Given the description of an element on the screen output the (x, y) to click on. 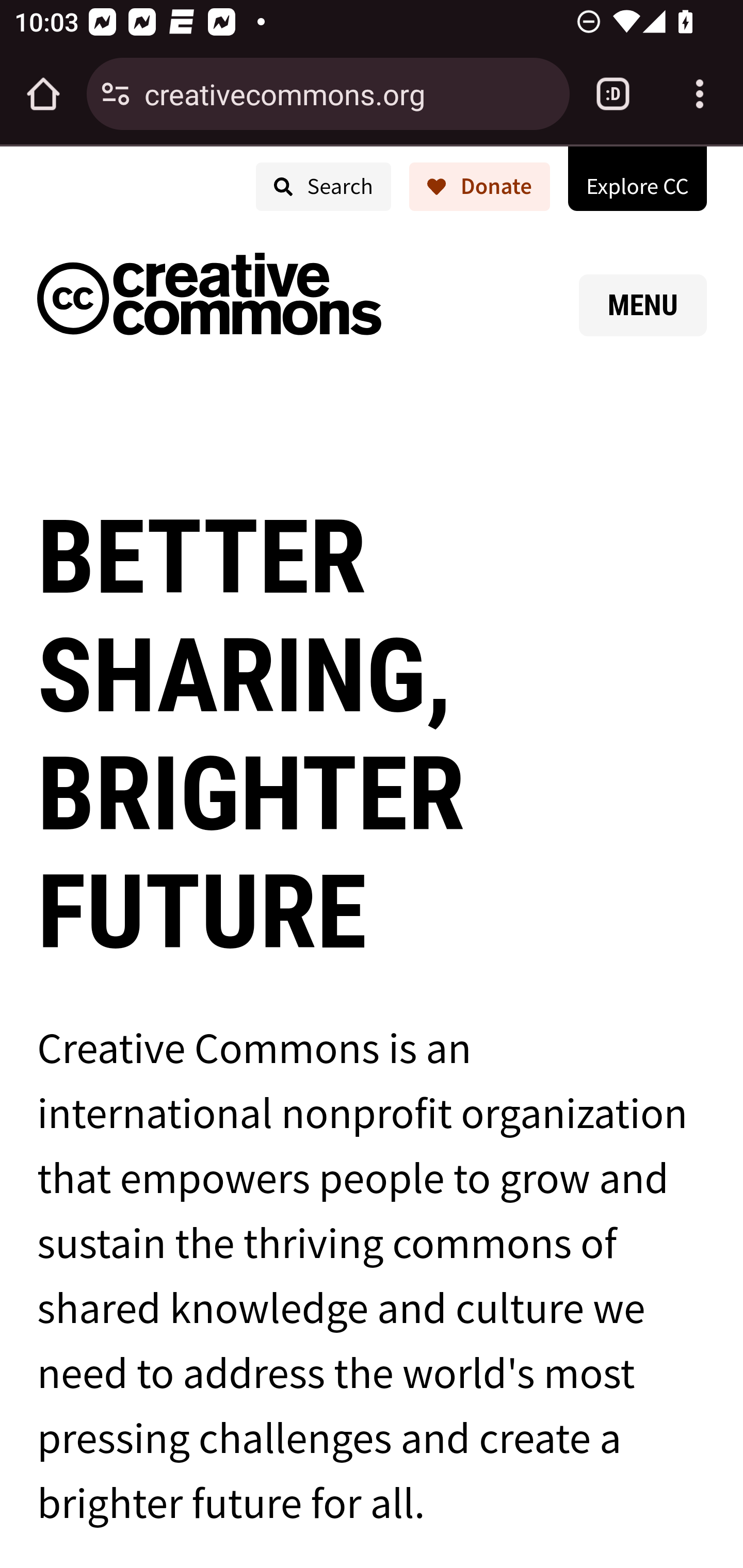
Open the home page (43, 93)
Connection is secure (115, 93)
Switch or close tabs (612, 93)
Customize and control Google Chrome (699, 93)
creativecommons.org (349, 92)
Explore CC (637, 177)
Search (322, 187)
Donate (478, 187)
Creative Commons (209, 298)
MENU (643, 305)
